Given the description of an element on the screen output the (x, y) to click on. 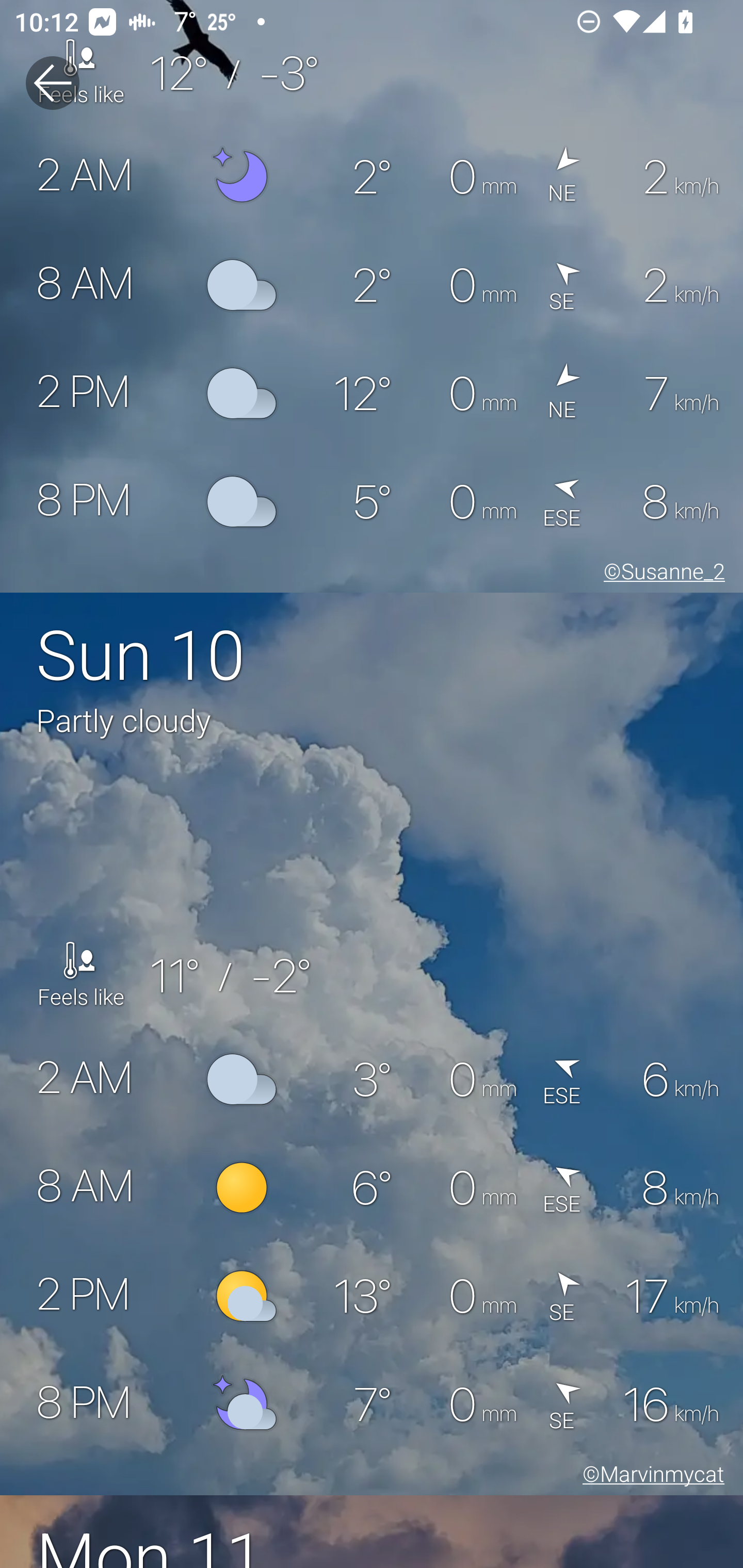
2 AM 2° 0 mm  NE 2 km/h (371, 176)
8 AM 2° 0 mm  SE 2 km/h (371, 284)
2 PM 12° 0 mm  NE 7 km/h (371, 393)
8 PM 5° 0 mm  ESE 8 km/h (371, 502)
©Susanne_2 (660, 574)
2 AM 3° 0 mm  ESE 6 km/h (371, 1079)
8 AM 6° 0 mm  ESE 8 km/h (371, 1187)
2 PM 13° 0 mm  SE 17 km/h (371, 1295)
8 PM 7° 0 mm  SE 16 km/h (371, 1404)
©Marvinmycat (650, 1476)
